Given the description of an element on the screen output the (x, y) to click on. 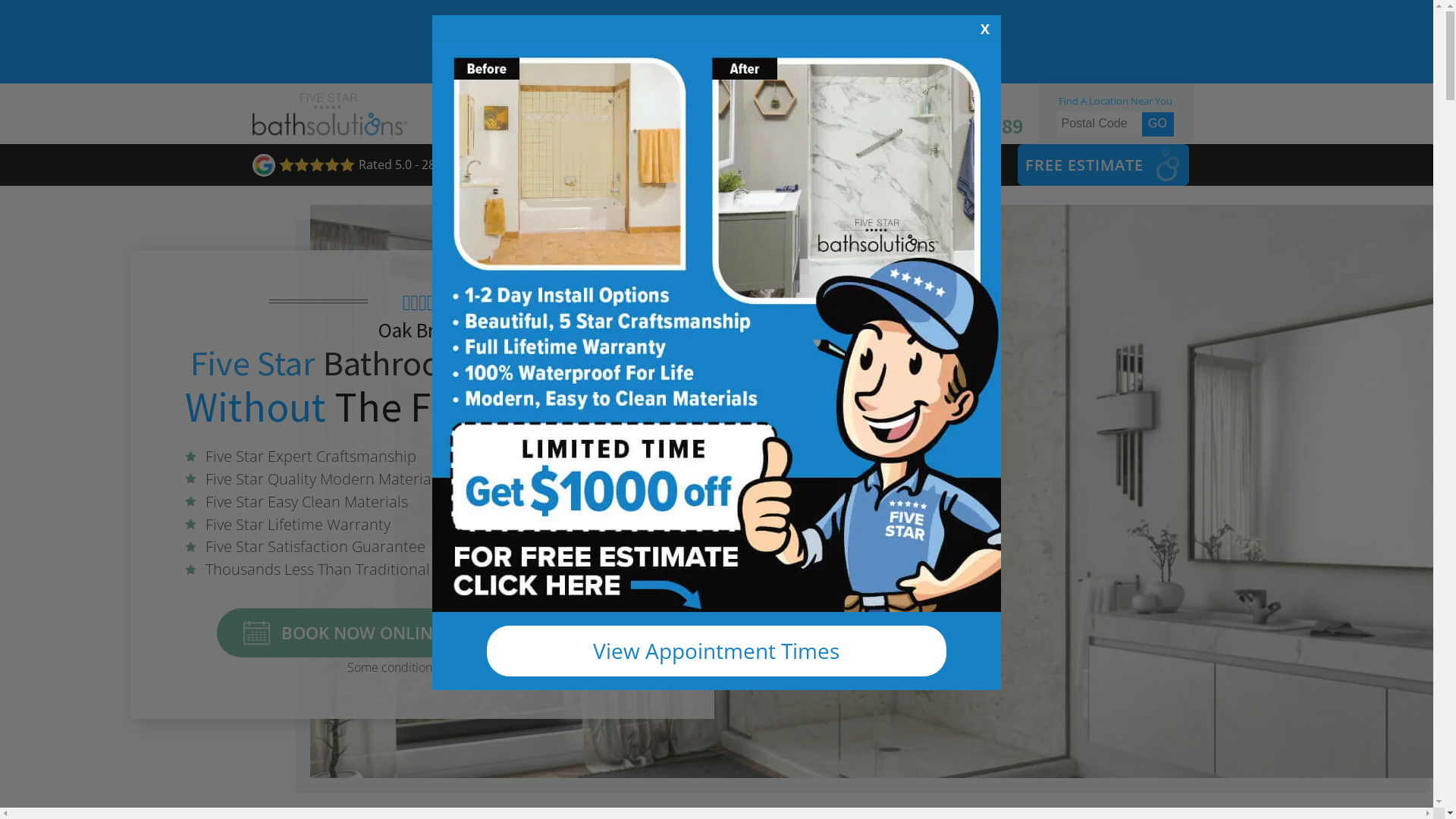
CONVERSIONS Element type: text (811, 164)
FREE ESTIMATE Element type: text (1084, 164)
Franchise Opportunities Element type: text (782, 126)
Lock-in A $1000 SAVINGS Element type: text (722, 36)
View Appointment Times Element type: text (716, 650)
Blog Element type: text (671, 126)
SHOWER Element type: text (694, 164)
About Us Element type: text (598, 126)
GO Element type: text (1157, 124)
Find A Location Near You Element type: text (1115, 100)
SAFETY BATH Element type: text (947, 164)
BOOK NOW ONLINE FOR $1,000 OFF! >> Element type: text (422, 632)
BATH Element type: text (612, 164)
(630) 315-0789 Element type: text (946, 125)
Rated 5.0 - 28 Reviews Element type: text (367, 164)
